Given the description of an element on the screen output the (x, y) to click on. 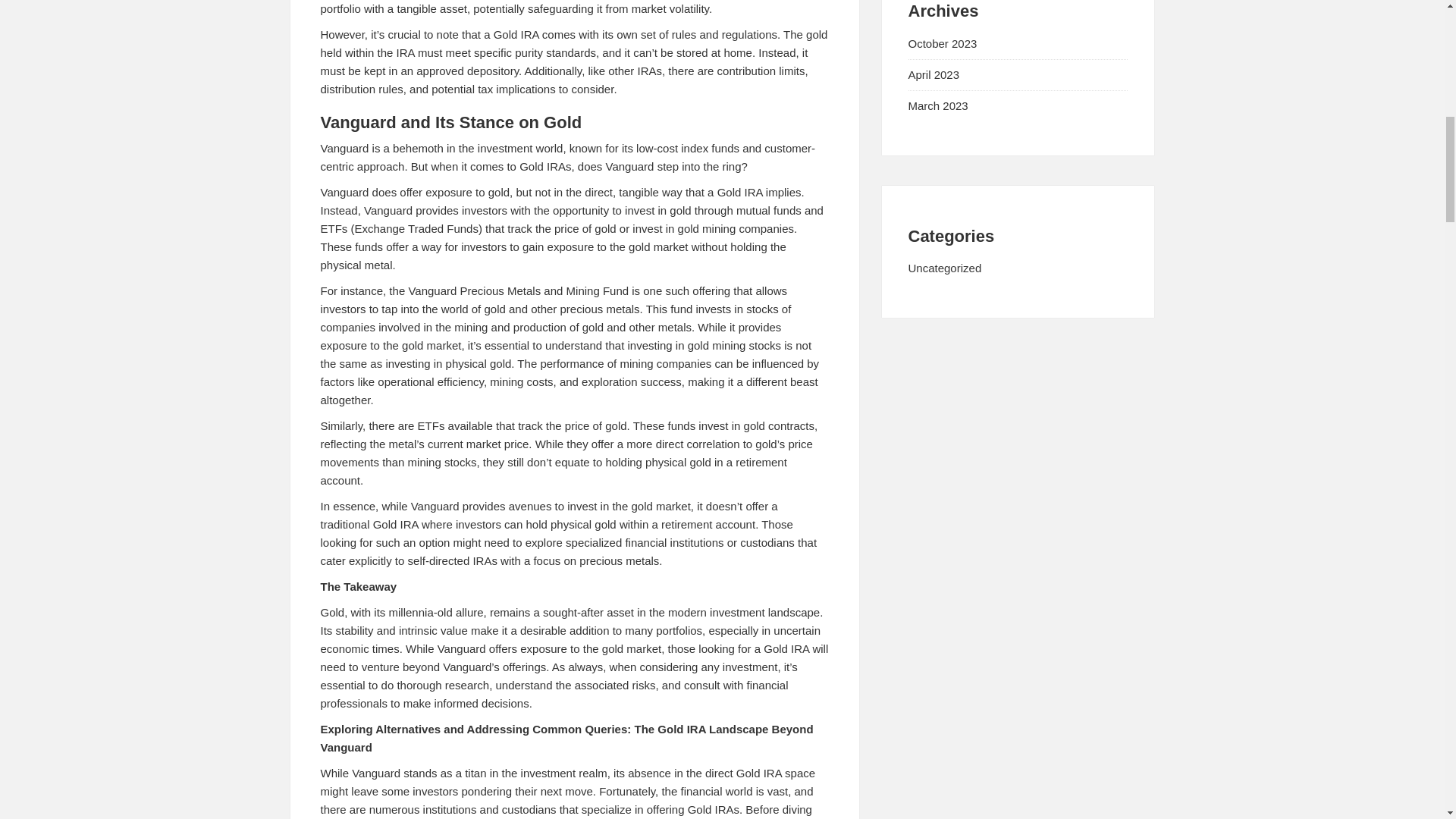
April 2023 (933, 74)
Uncategorized (944, 267)
March 2023 (938, 105)
October 2023 (942, 42)
